Given the description of an element on the screen output the (x, y) to click on. 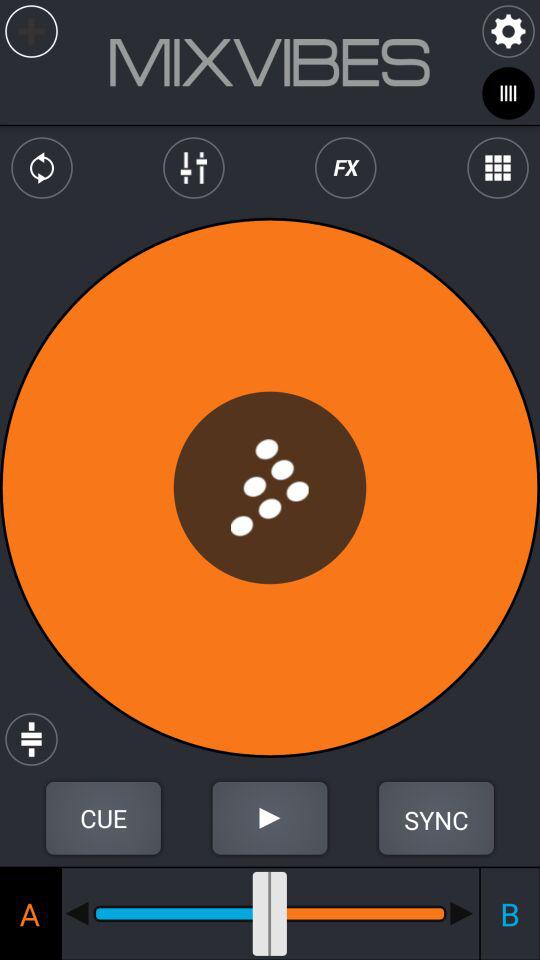
choose a item (30, 913)
